Given the description of an element on the screen output the (x, y) to click on. 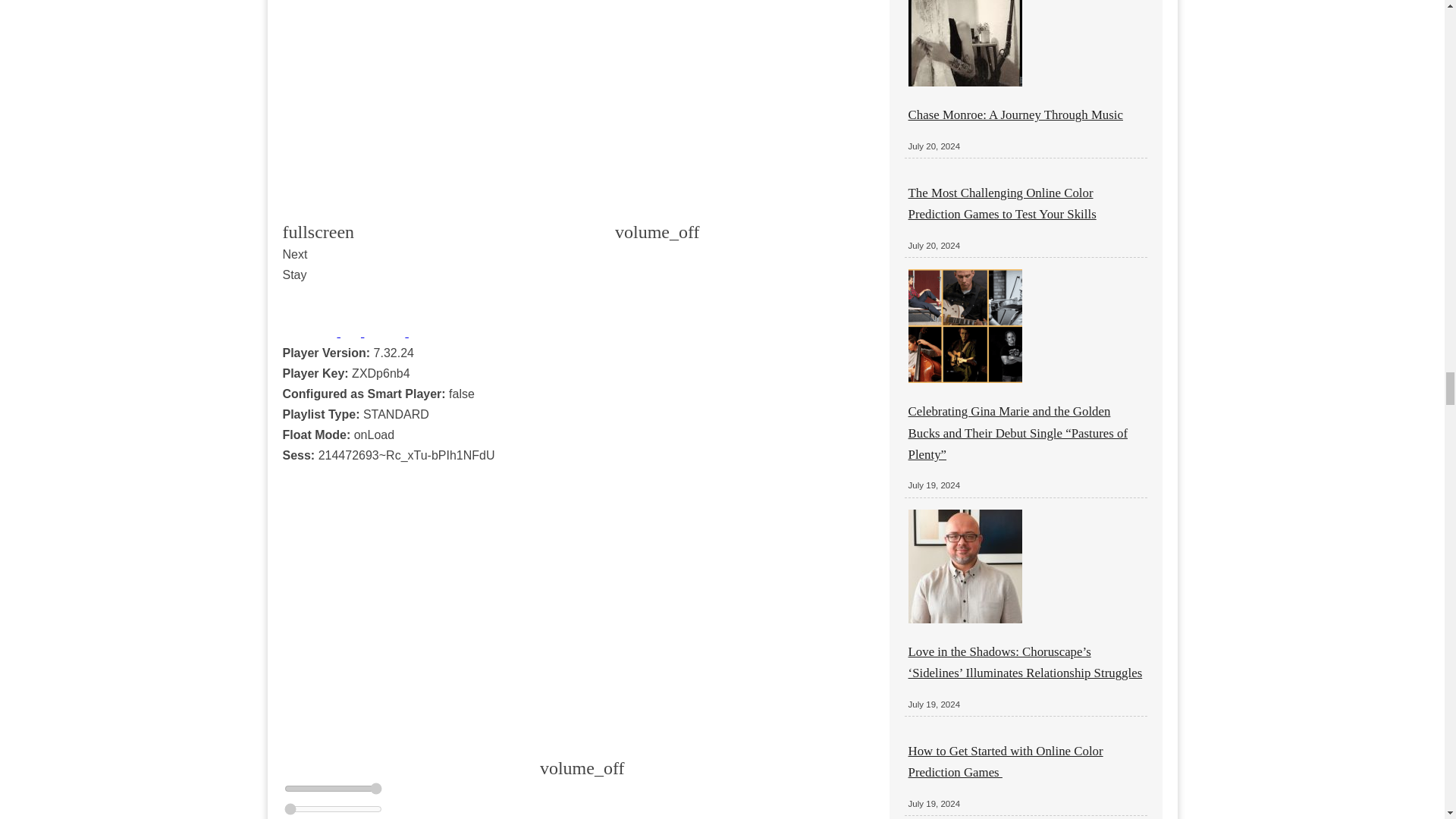
Chase Monroe: A Journey Through Music (1015, 114)
